Given the description of an element on the screen output the (x, y) to click on. 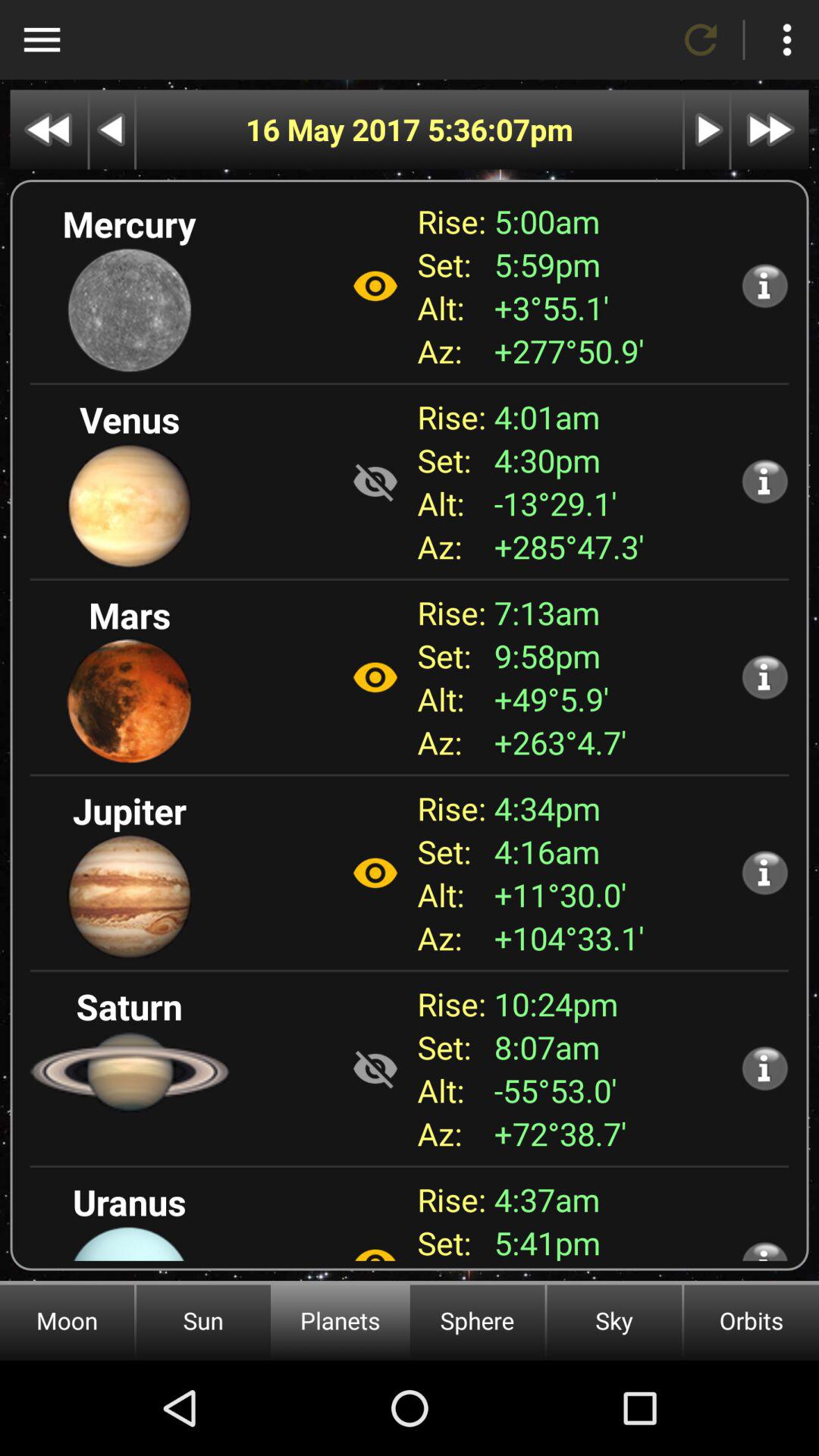
information (764, 481)
